Given the description of an element on the screen output the (x, y) to click on. 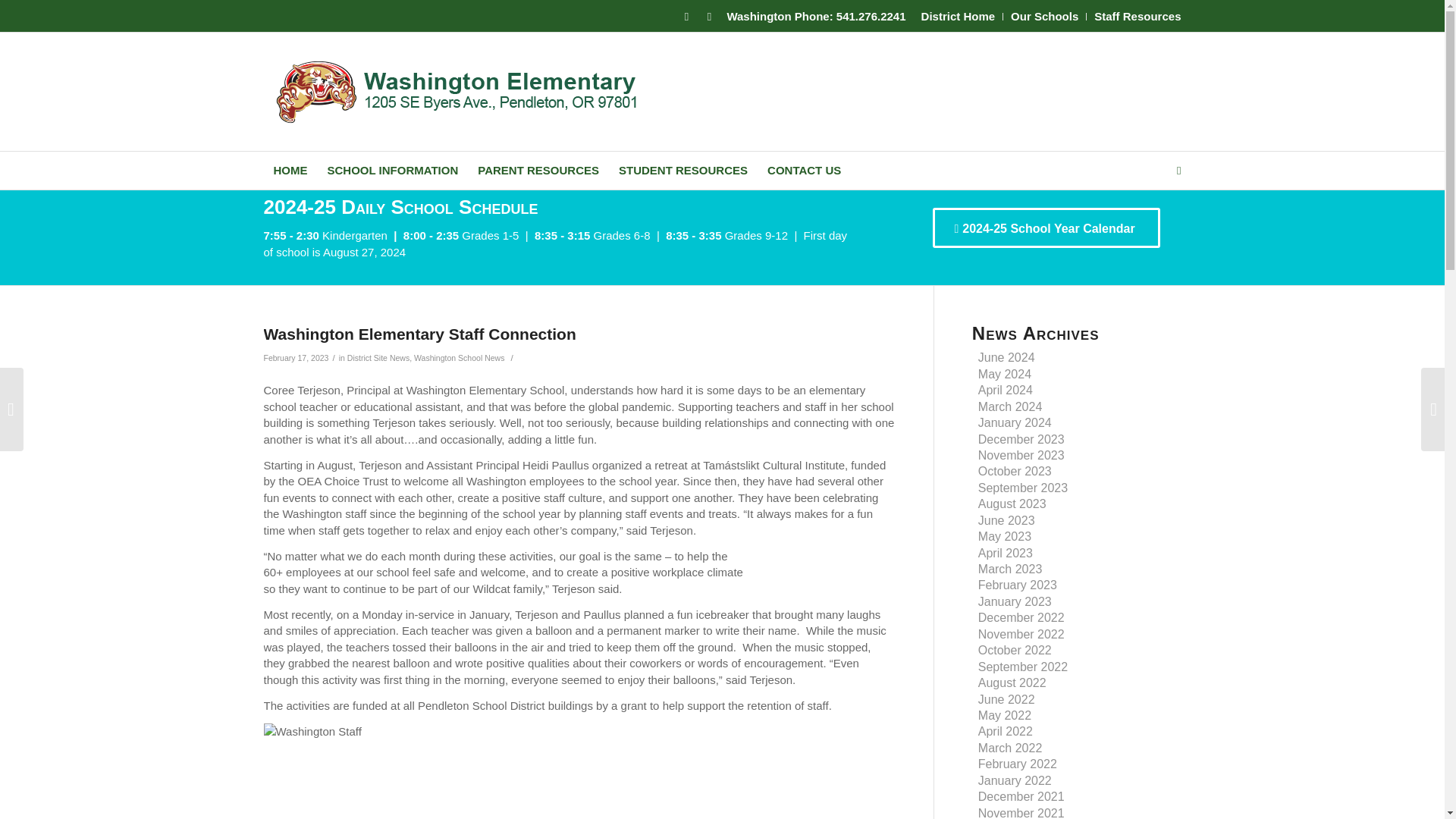
Our Schools (1044, 15)
STUDENT RESOURCES (682, 170)
washington-wildcats (462, 91)
Facebook (686, 15)
HOME (290, 170)
SCHOOL INFORMATION (392, 170)
District Home (958, 15)
Mail (708, 15)
Staff Resources (1137, 15)
PARENT RESOURCES (537, 170)
